Given the description of an element on the screen output the (x, y) to click on. 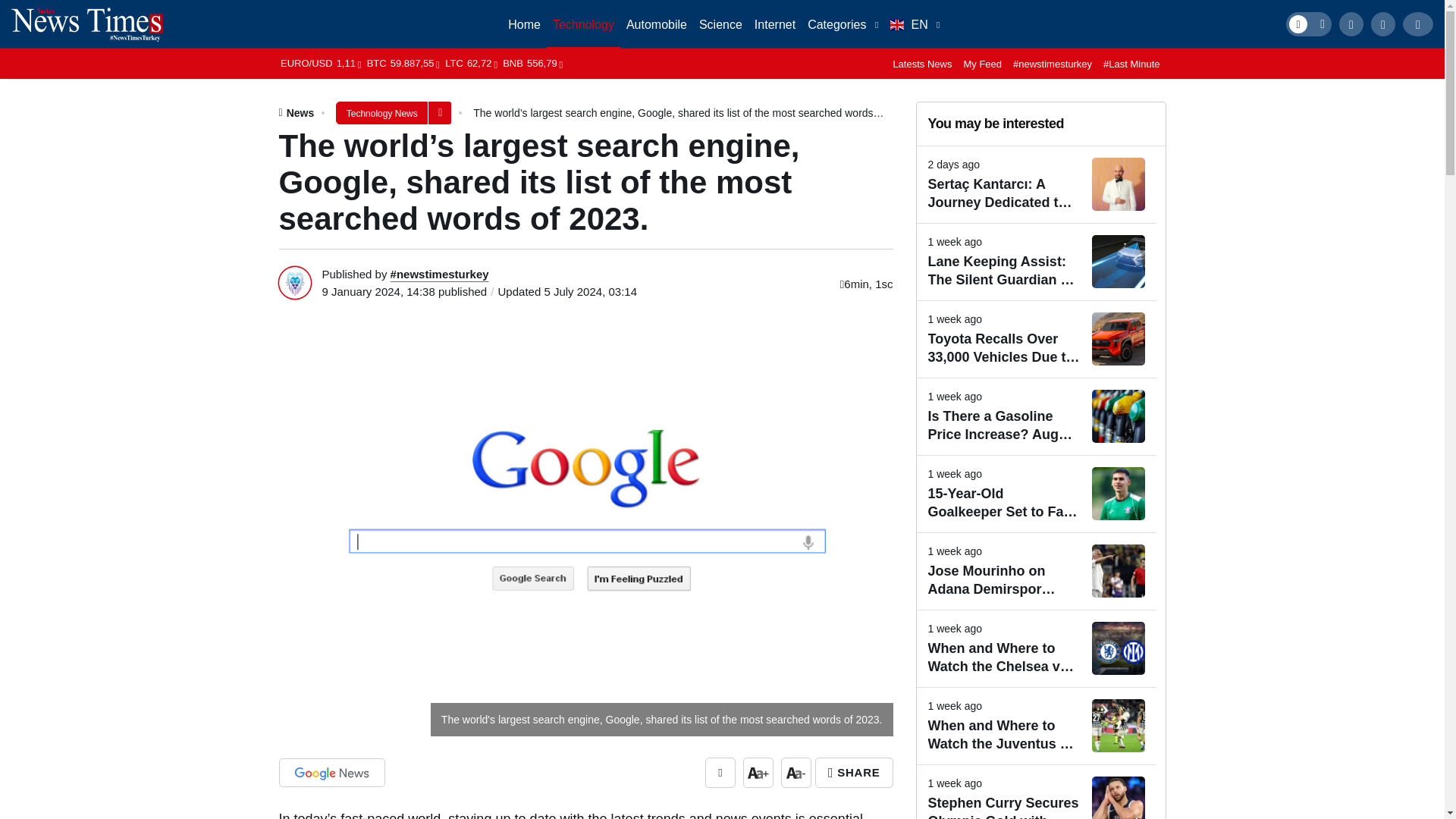
Enlarge Text (757, 772)
Science (720, 24)
Comment (719, 772)
Technology (583, 24)
English (913, 24)
Technology News (382, 112)
Subscribe with Google News (332, 772)
Latests News (922, 62)
Home (524, 24)
New (842, 24)
